Given the description of an element on the screen output the (x, y) to click on. 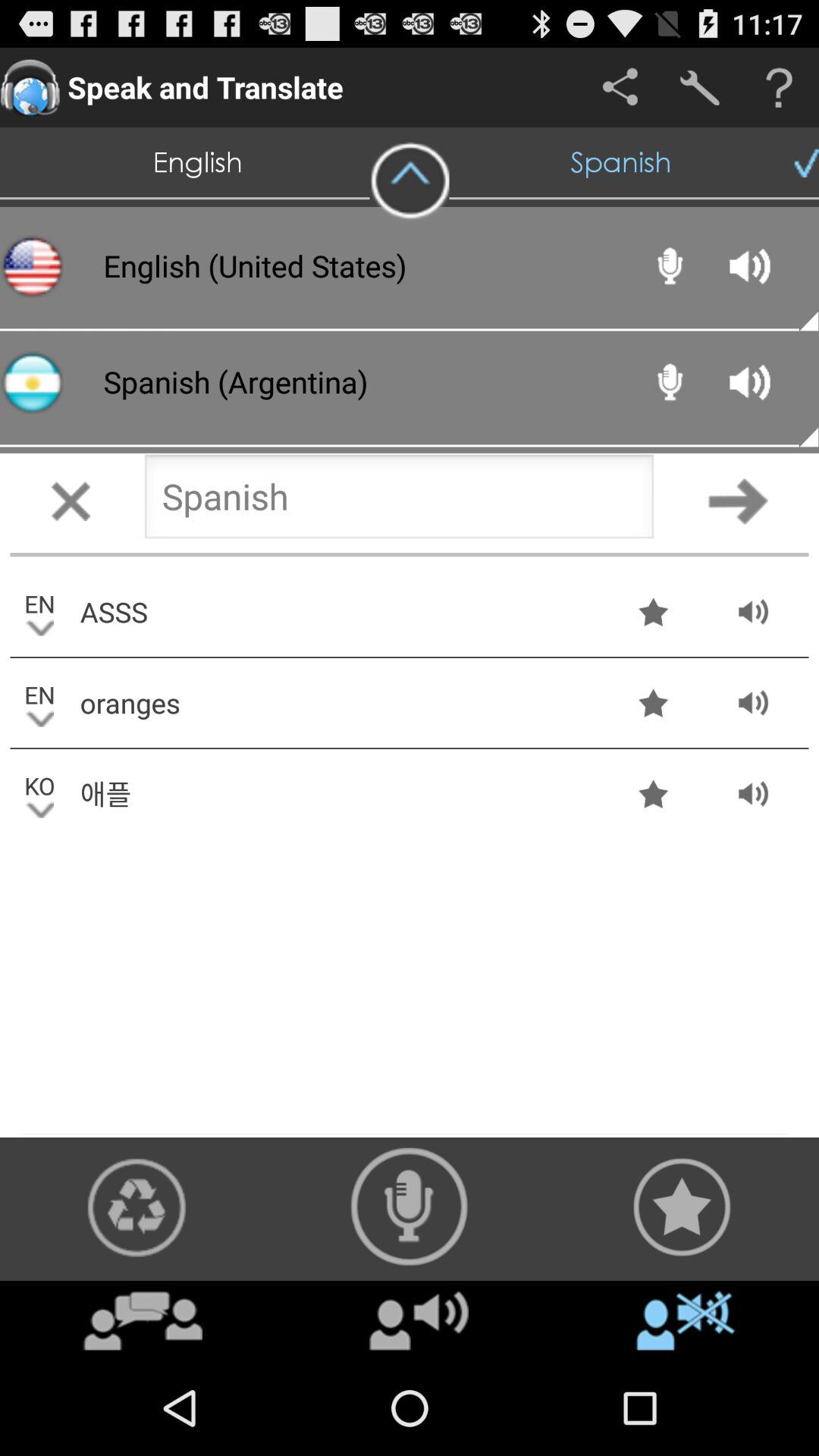
settings (699, 87)
